Given the description of an element on the screen output the (x, y) to click on. 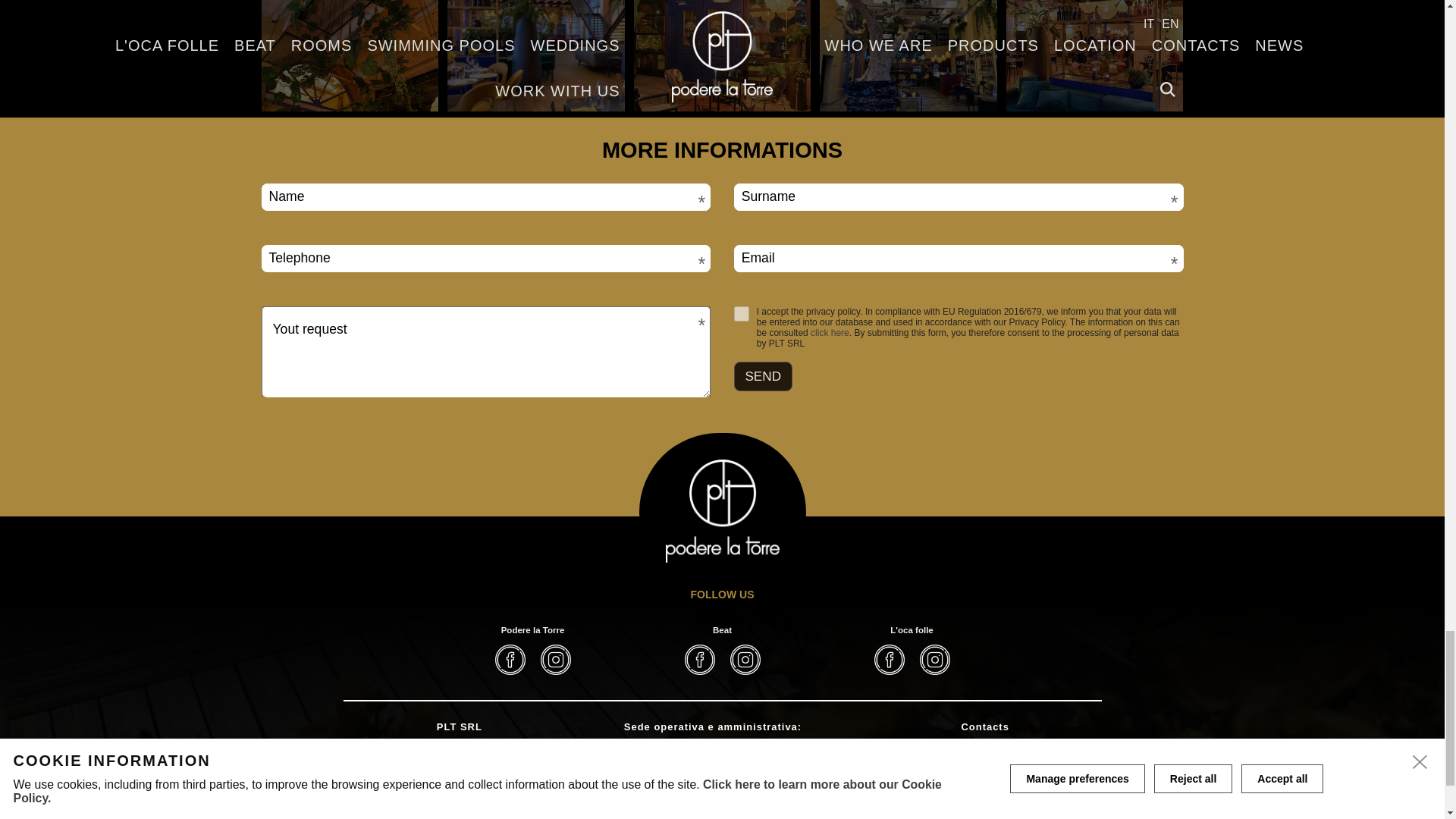
1 (741, 313)
